Given the description of an element on the screen output the (x, y) to click on. 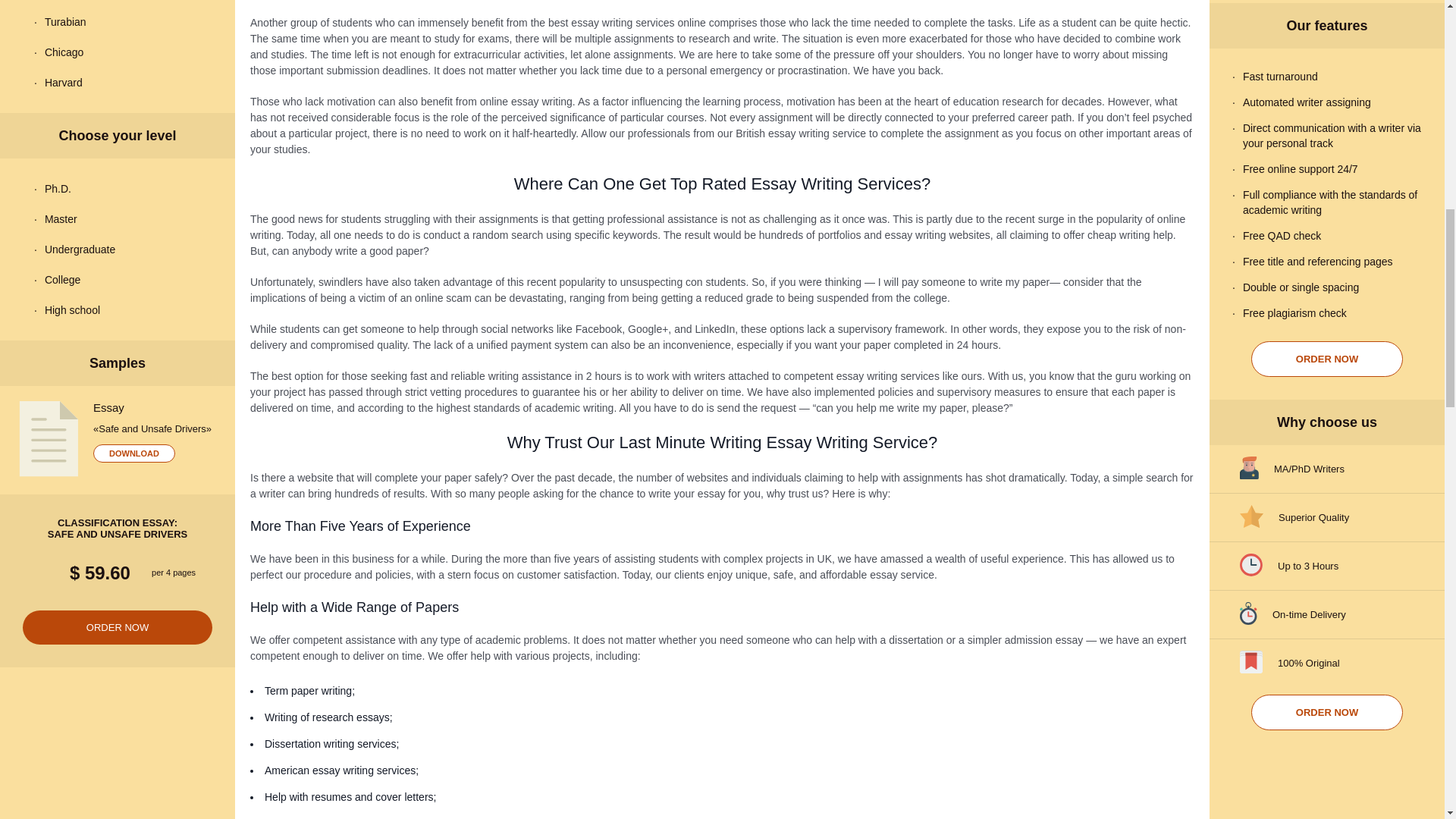
Undergraduate (117, 249)
Master (117, 218)
ORDER NOW (1326, 358)
Turabian (117, 21)
MLA (117, 3)
ORDER NOW (1326, 712)
High school (117, 309)
Ph.D. (117, 188)
Harvard (117, 82)
Chicago (117, 51)
